Given the description of an element on the screen output the (x, y) to click on. 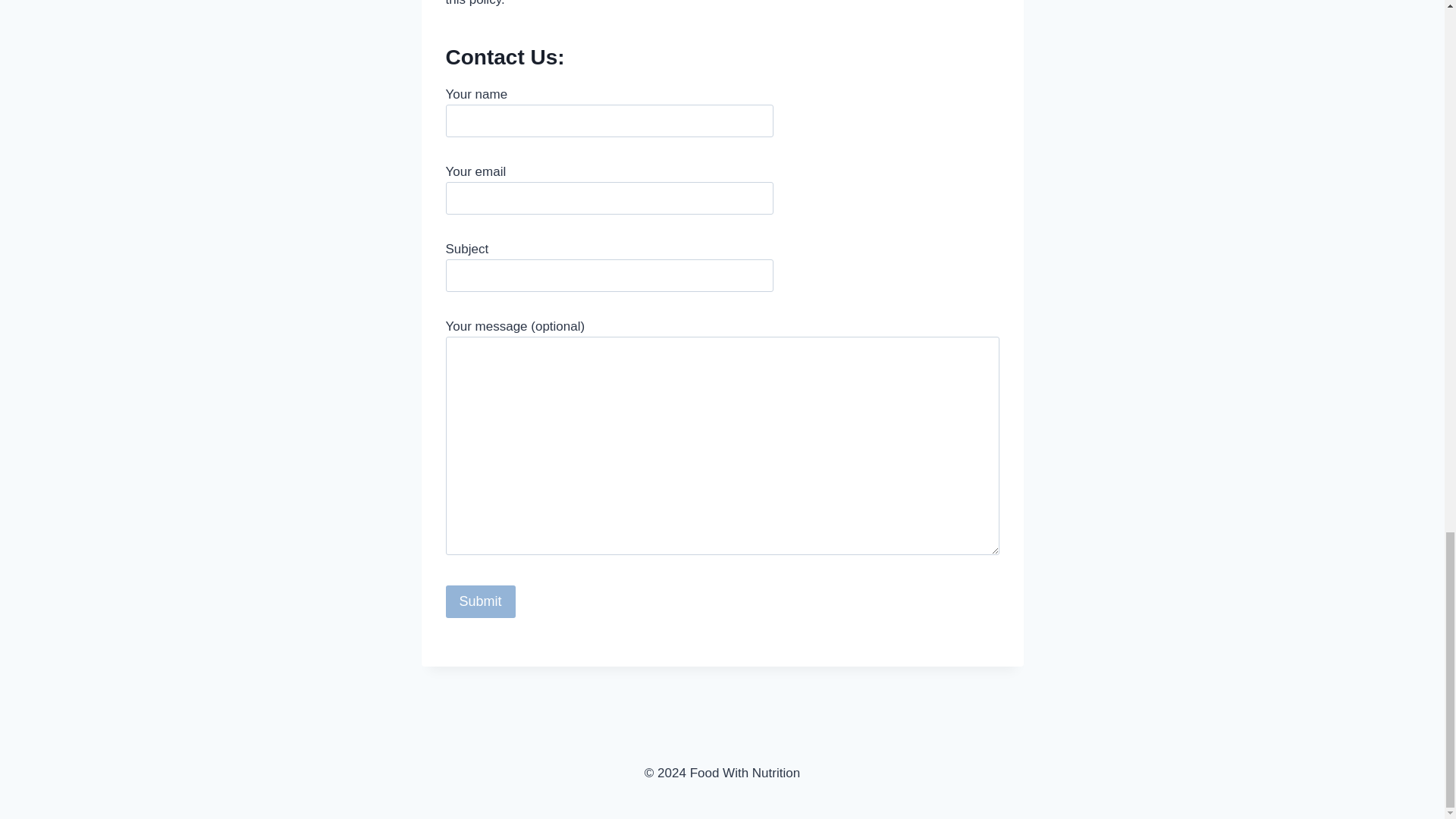
Submit (480, 601)
Submit (480, 601)
